Given the description of an element on the screen output the (x, y) to click on. 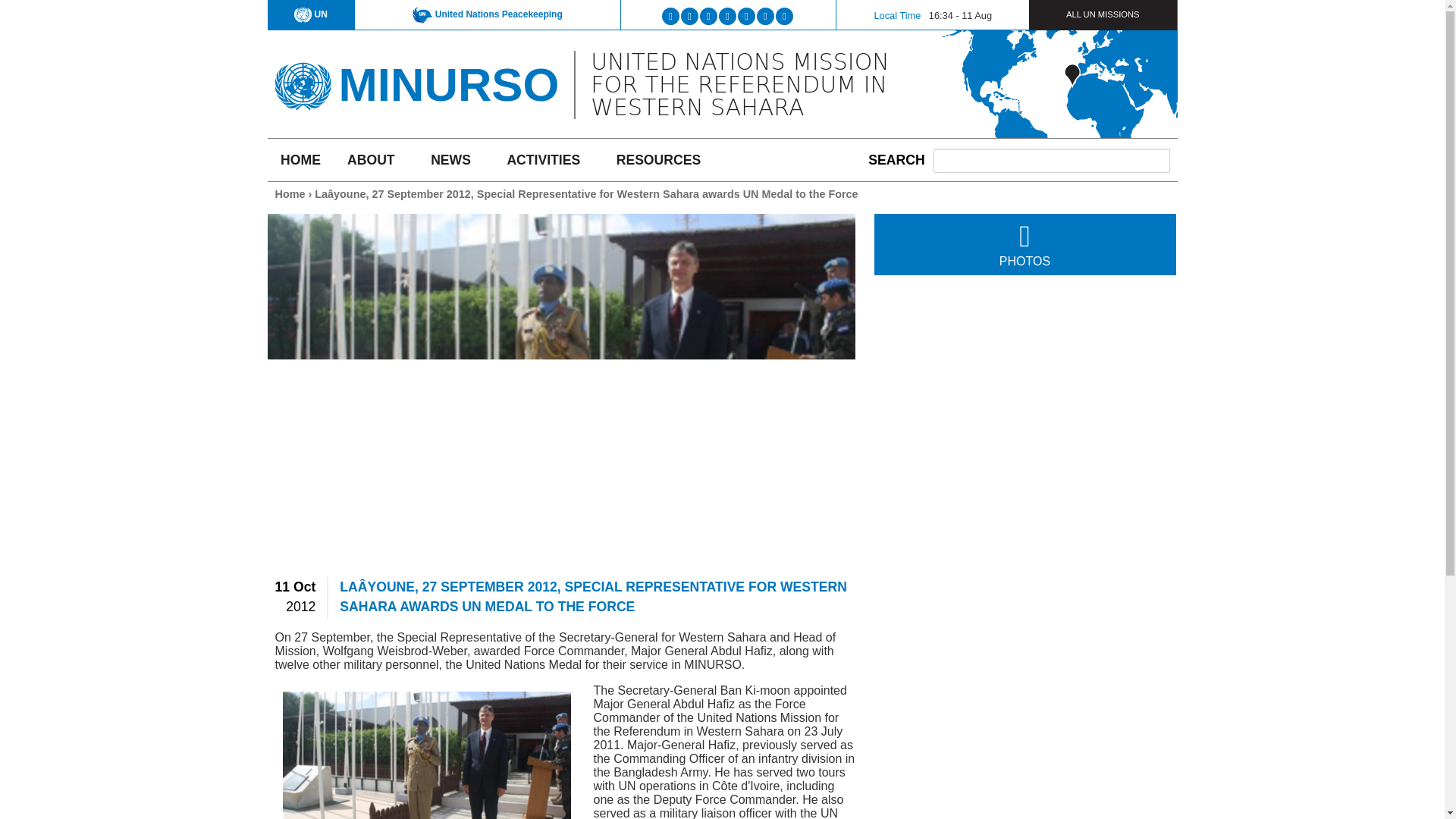
UN (310, 14)
MINURSO (448, 84)
United Nations Peacekeeping (487, 14)
HOME (299, 159)
Home (289, 193)
Home (301, 80)
Home (448, 84)
ALL UN MISSIONS (1102, 13)
Enter the terms you wish to search for. (1051, 160)
